Given the description of an element on the screen output the (x, y) to click on. 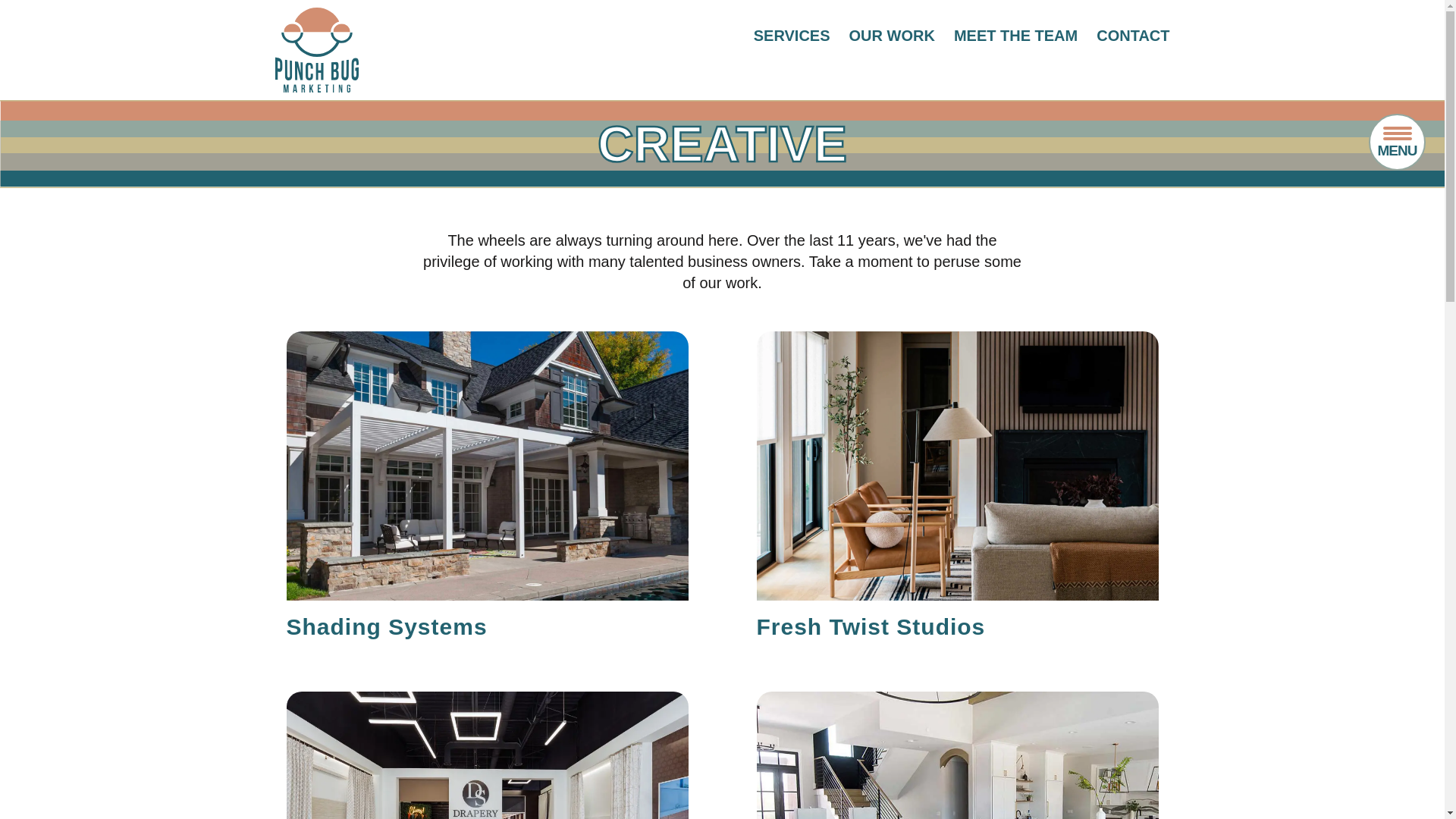
MEET THE TEAM (1015, 35)
Services (791, 35)
OUR WORK (891, 35)
Our Work (891, 35)
SERVICES (791, 35)
Contact (1132, 35)
Meet The Team (1015, 35)
CONTACT (1132, 35)
Fresh Twist Studios (871, 626)
Shading Systems (386, 626)
